Given the description of an element on the screen output the (x, y) to click on. 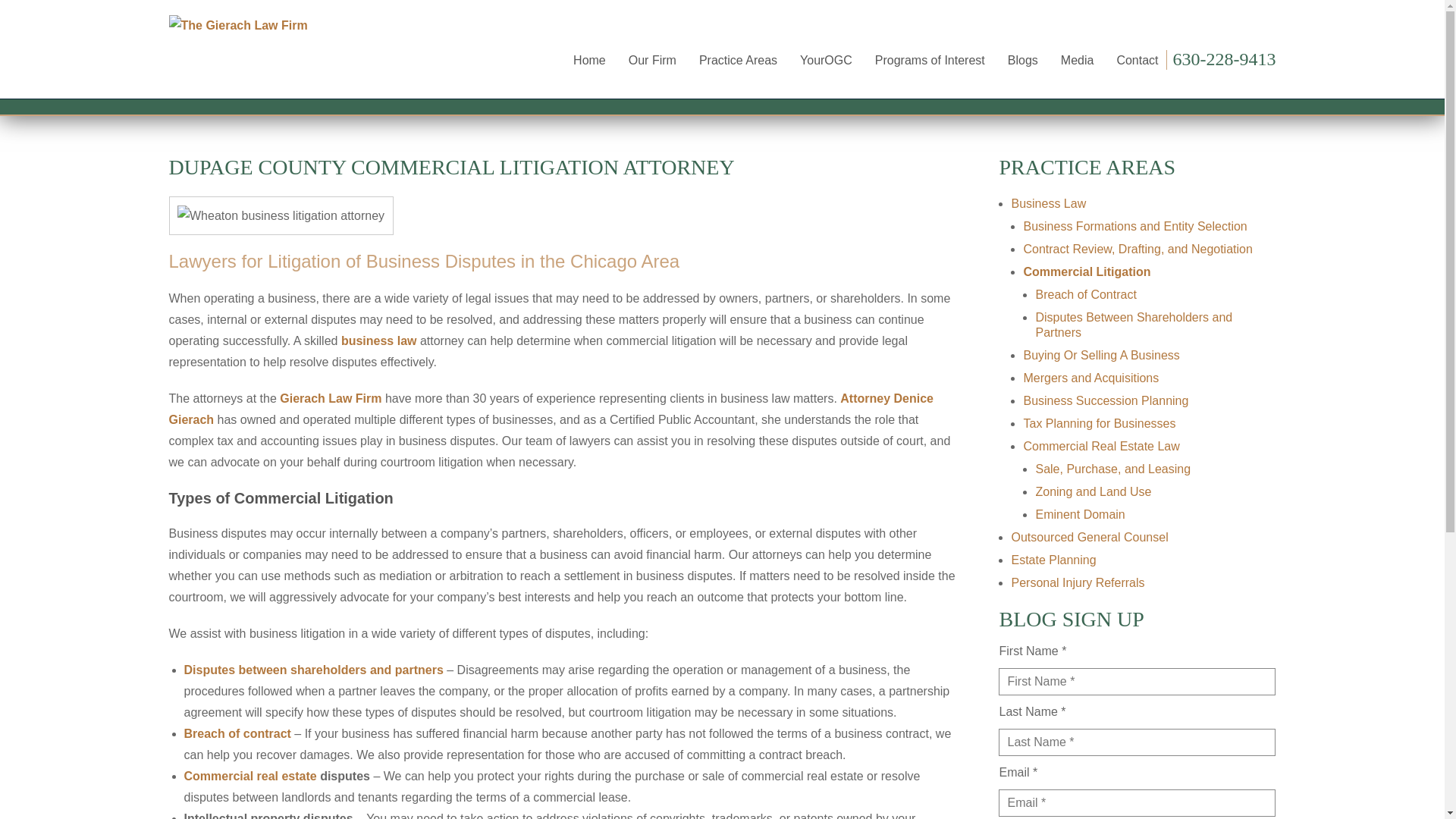
Practice Areas (737, 60)
Home (589, 60)
Our Firm (652, 60)
